Given the description of an element on the screen output the (x, y) to click on. 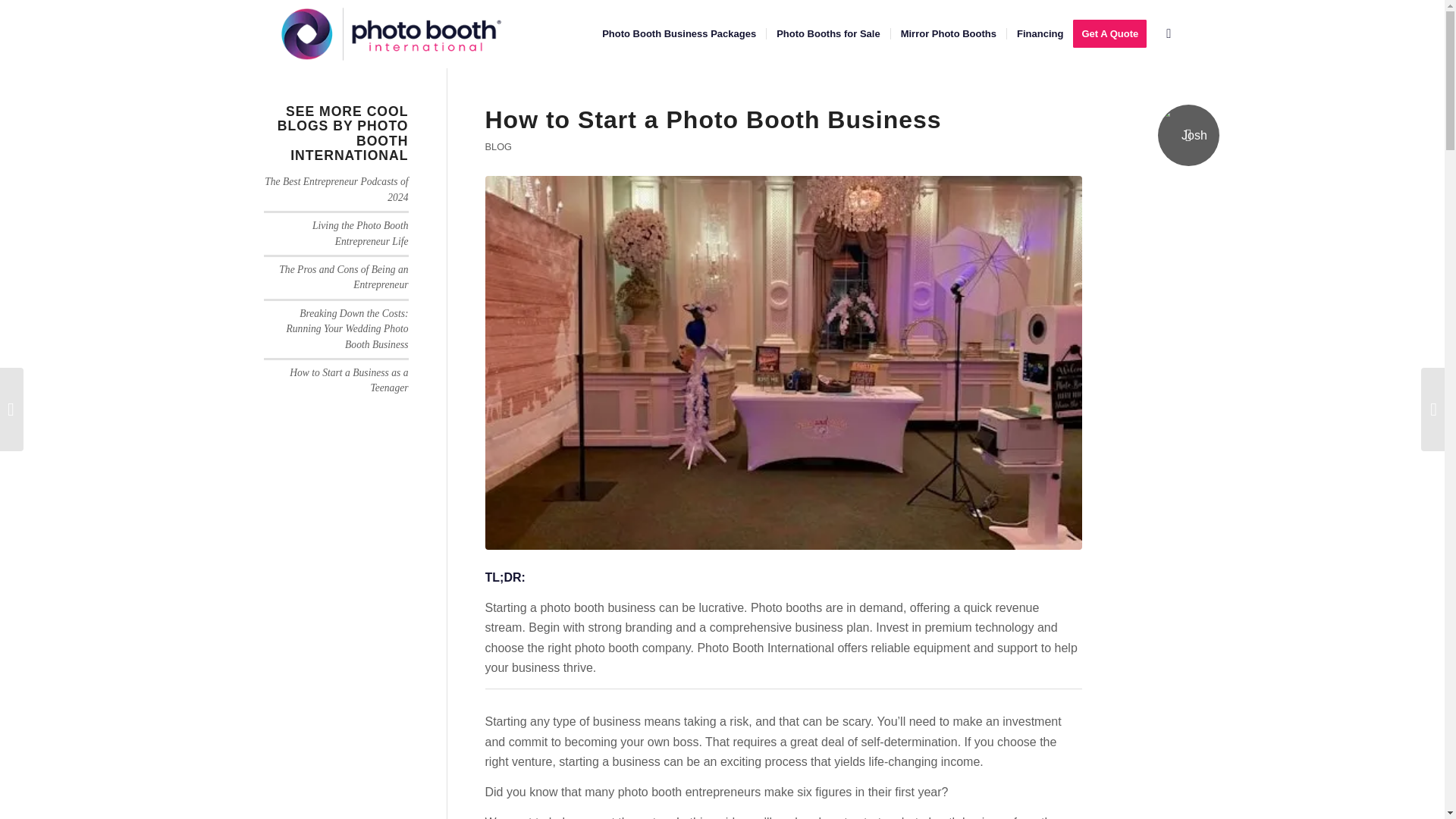
Get A Quote (1114, 33)
Photo Booths for Sale (827, 33)
Mirror Photo Booths (947, 33)
Financing (1039, 33)
Photo Booth International Logo New (389, 33)
Photo Booth Business Packages (678, 33)
